Given the description of an element on the screen output the (x, y) to click on. 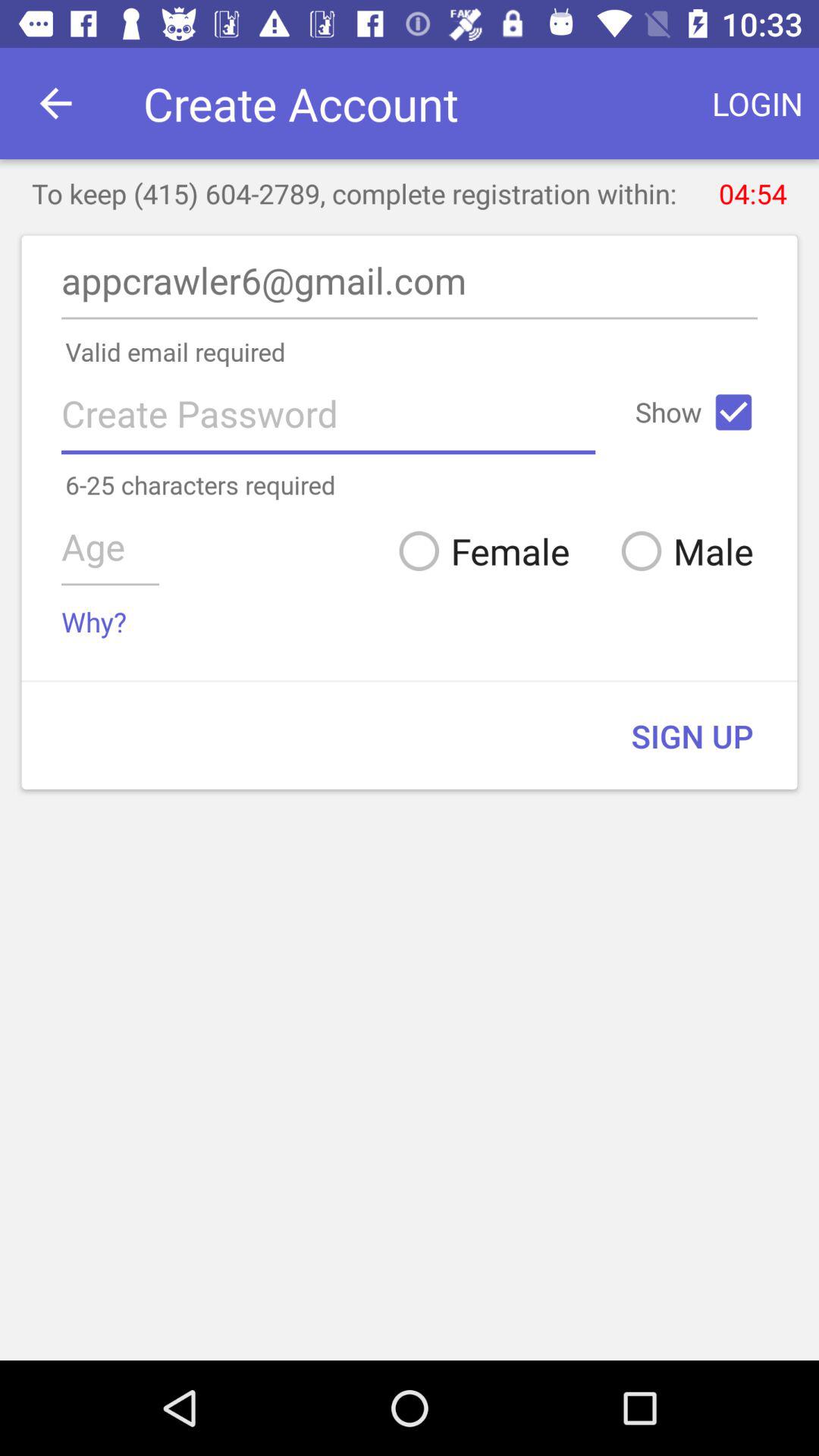
press the icon below the 6 25 characters icon (681, 550)
